Given the description of an element on the screen output the (x, y) to click on. 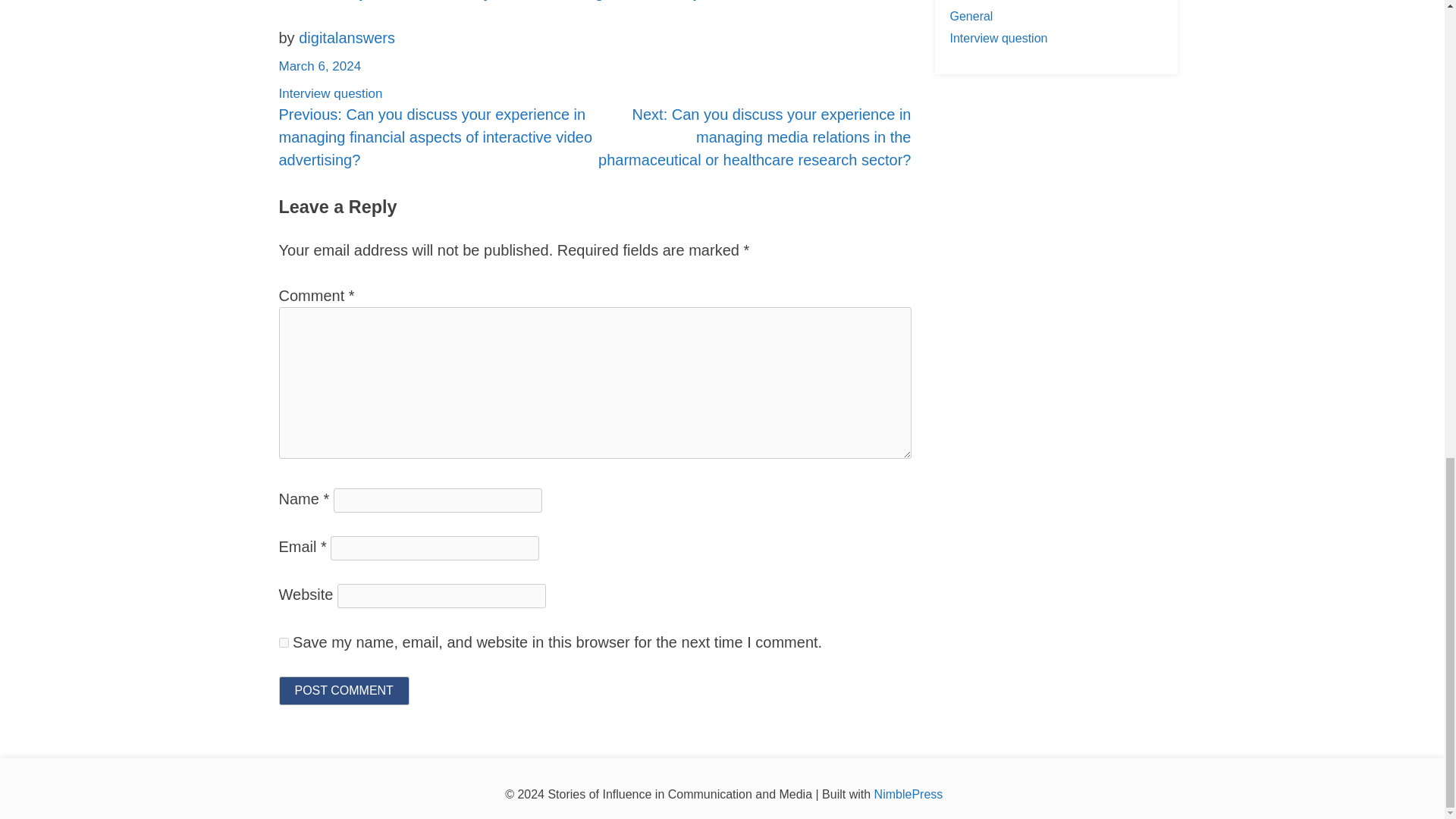
Interview question (997, 38)
Interview question (330, 93)
digitalanswers (346, 37)
General (970, 15)
NimblePress (909, 794)
March 6, 2024 (320, 65)
Post Comment (344, 690)
yes (283, 642)
